Given the description of an element on the screen output the (x, y) to click on. 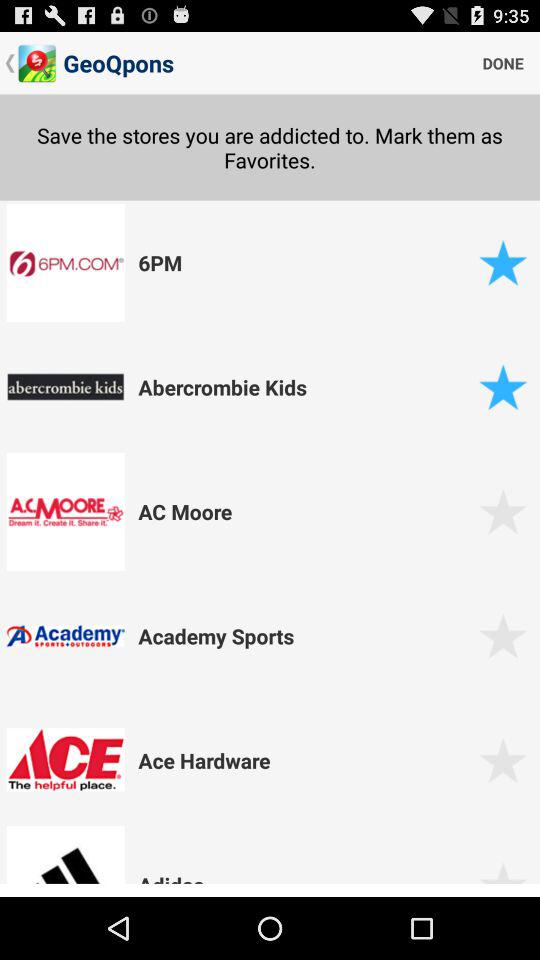
choose the ac moore (305, 511)
